Given the description of an element on the screen output the (x, y) to click on. 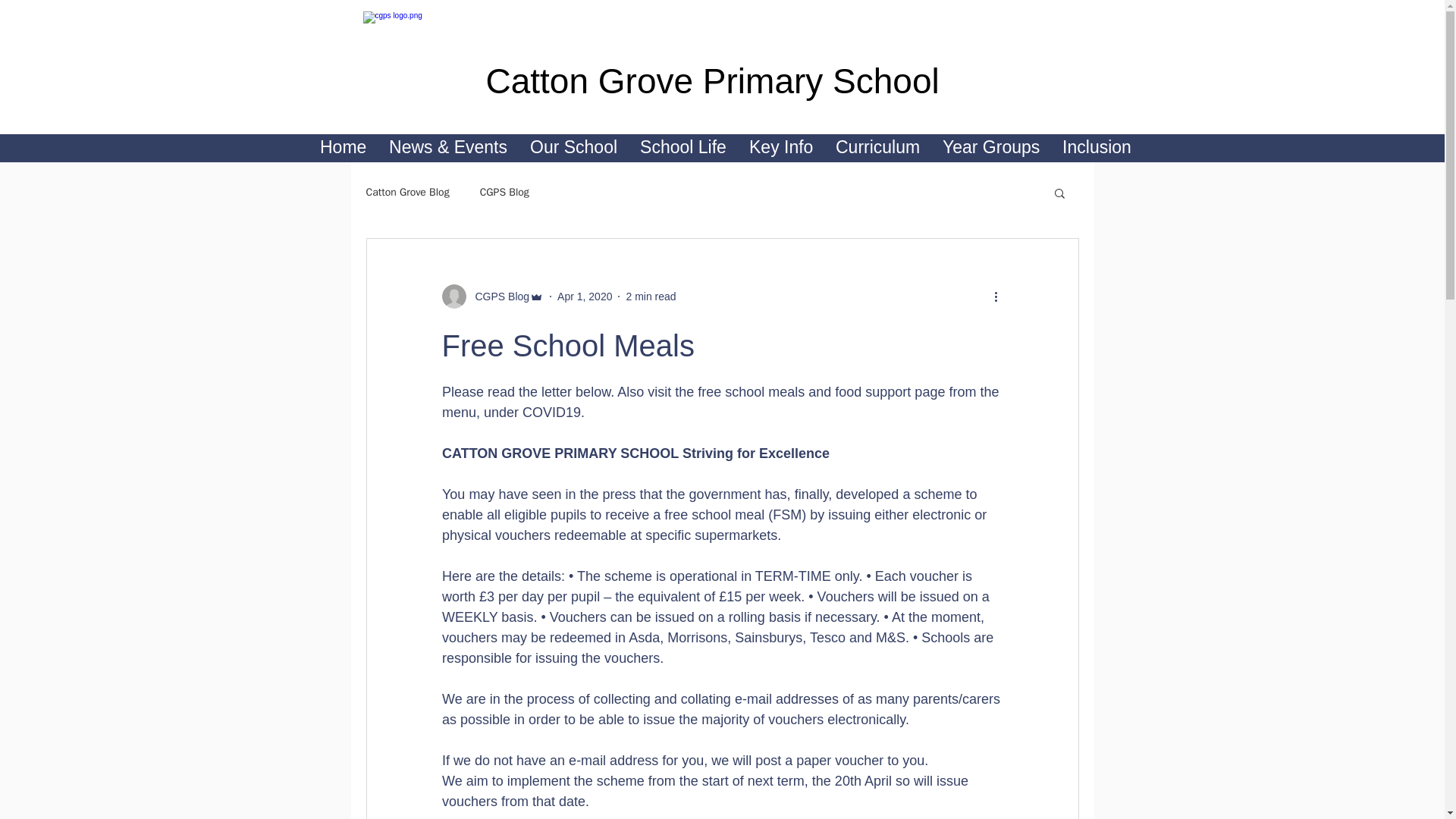
CGPS Blog (497, 295)
Apr 1, 2020 (584, 295)
Home (342, 147)
2 min read (650, 295)
